Given the description of an element on the screen output the (x, y) to click on. 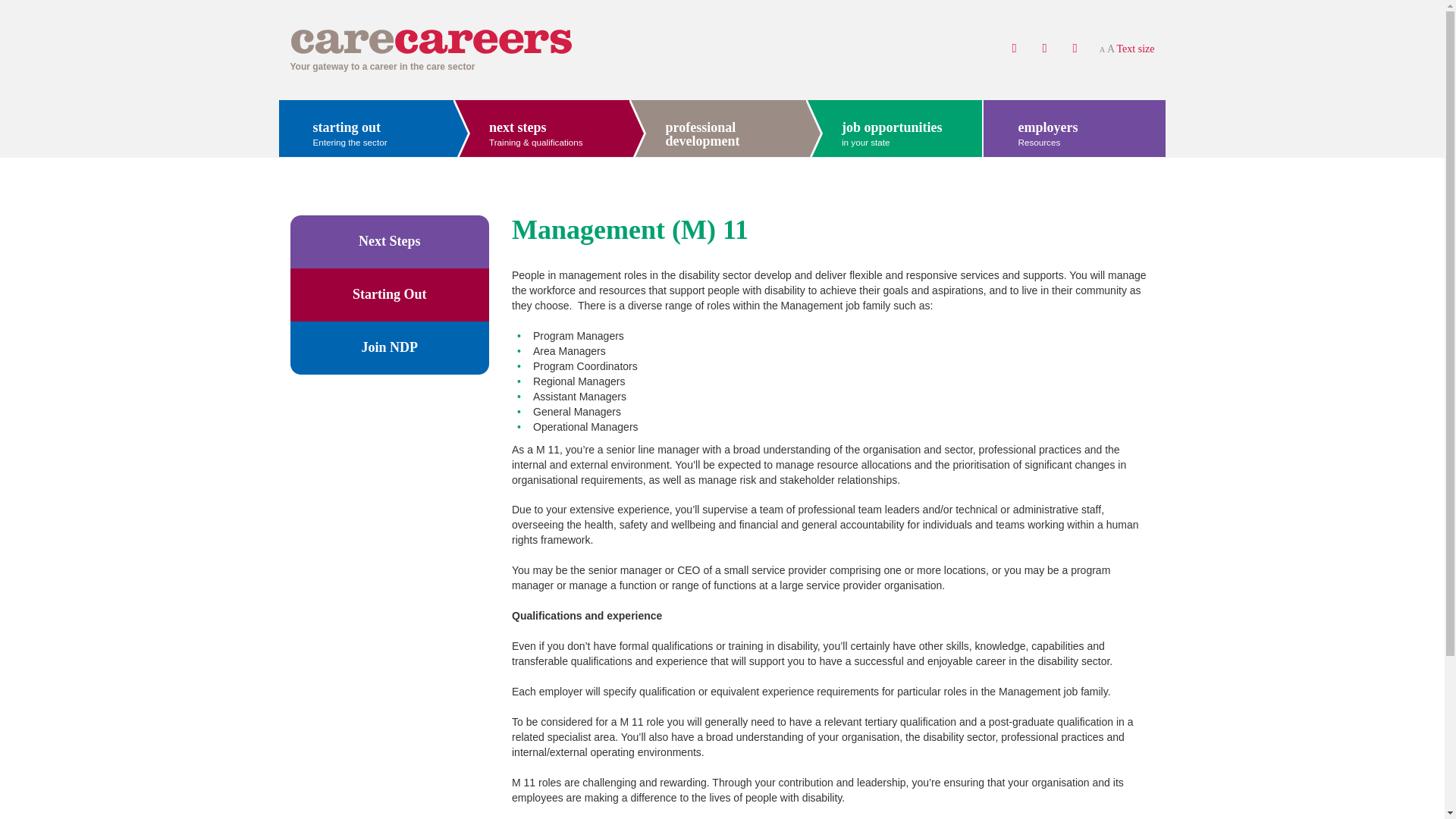
Care Careers (365, 133)
professional development (574, 41)
Starting Out (717, 133)
Join NDP (389, 294)
Next Steps (1075, 133)
